Given the description of an element on the screen output the (x, y) to click on. 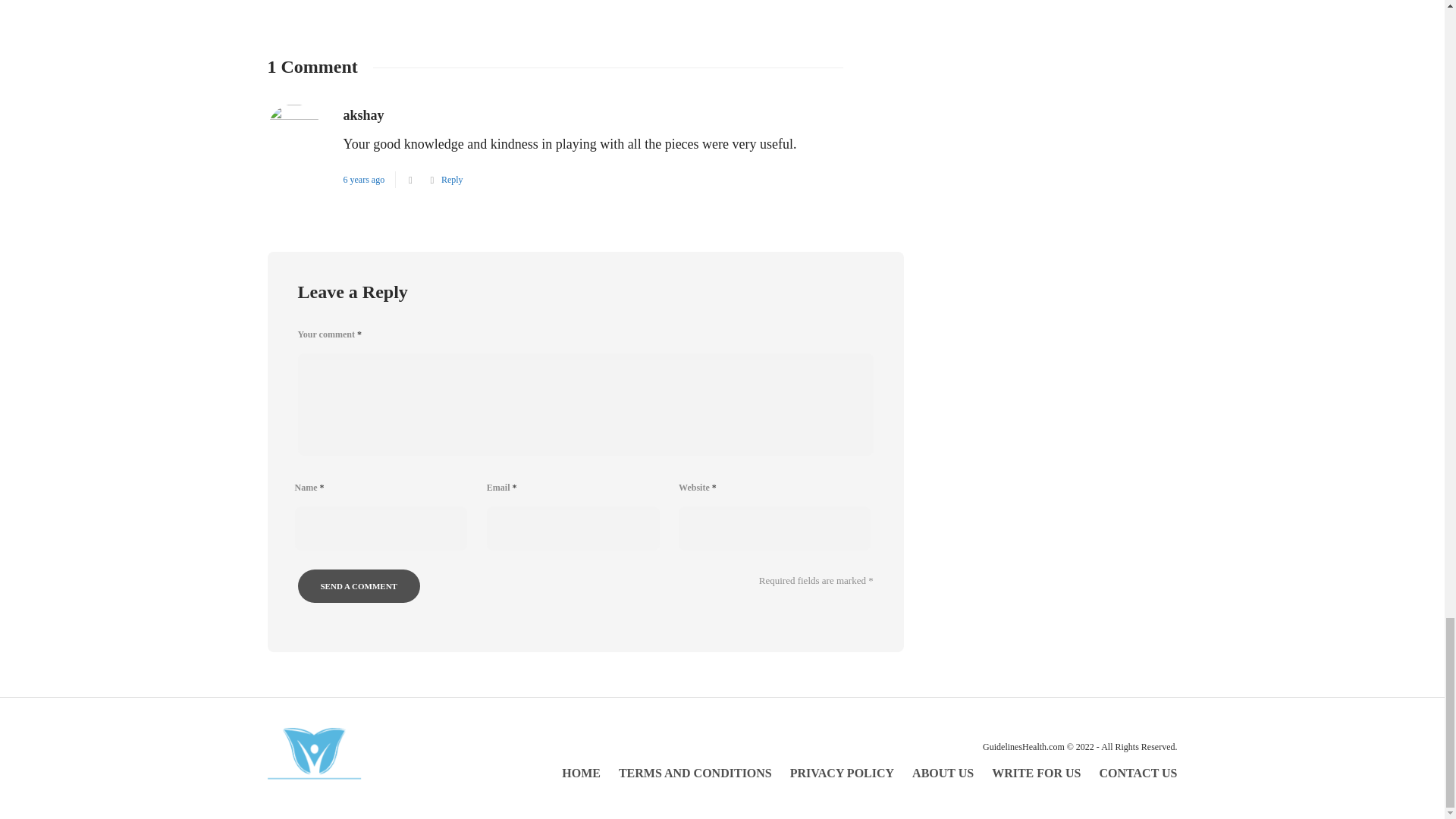
Send a comment (358, 585)
